Given the description of an element on the screen output the (x, y) to click on. 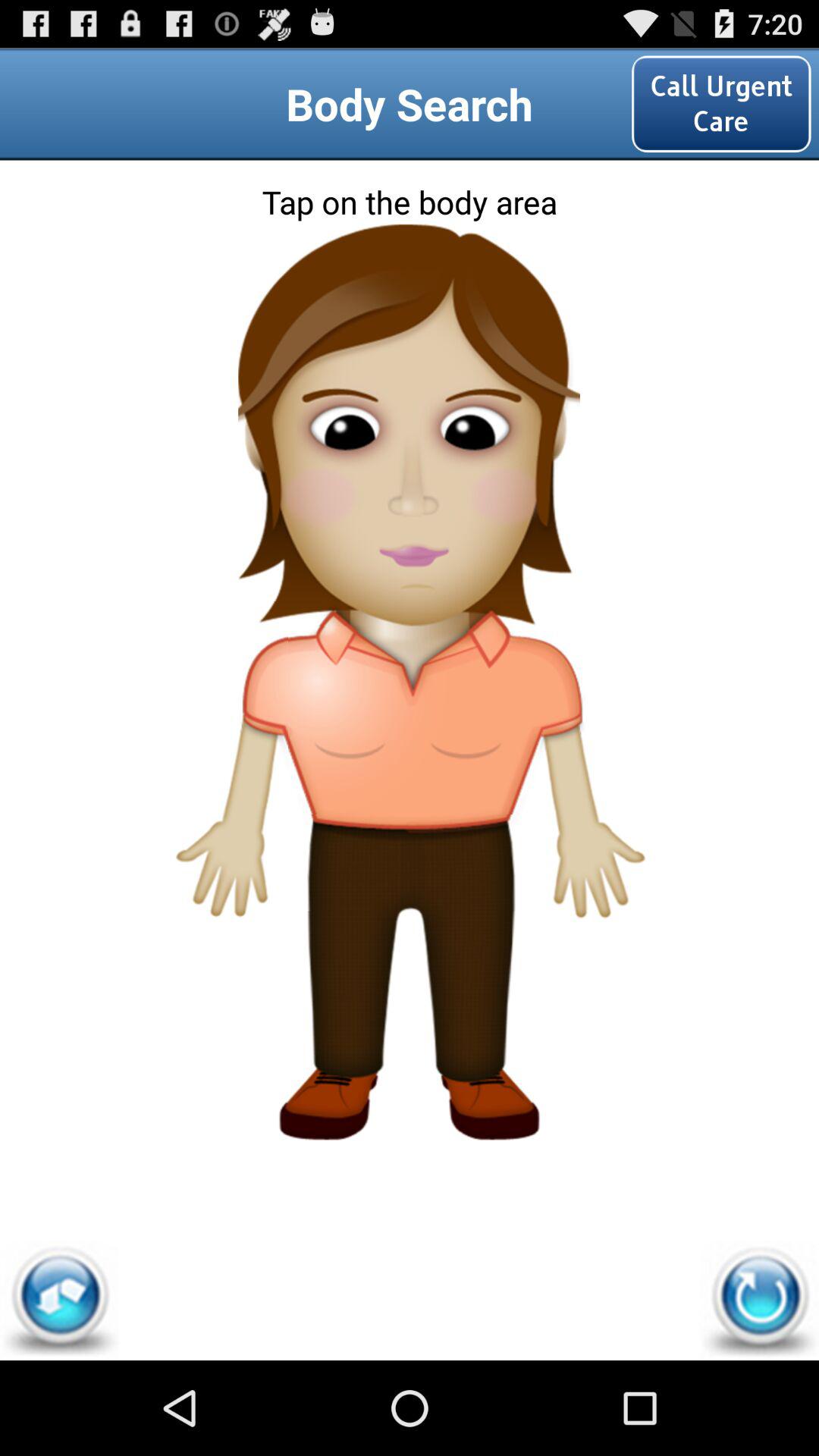
press the icon on the right (587, 772)
